Given the description of an element on the screen output the (x, y) to click on. 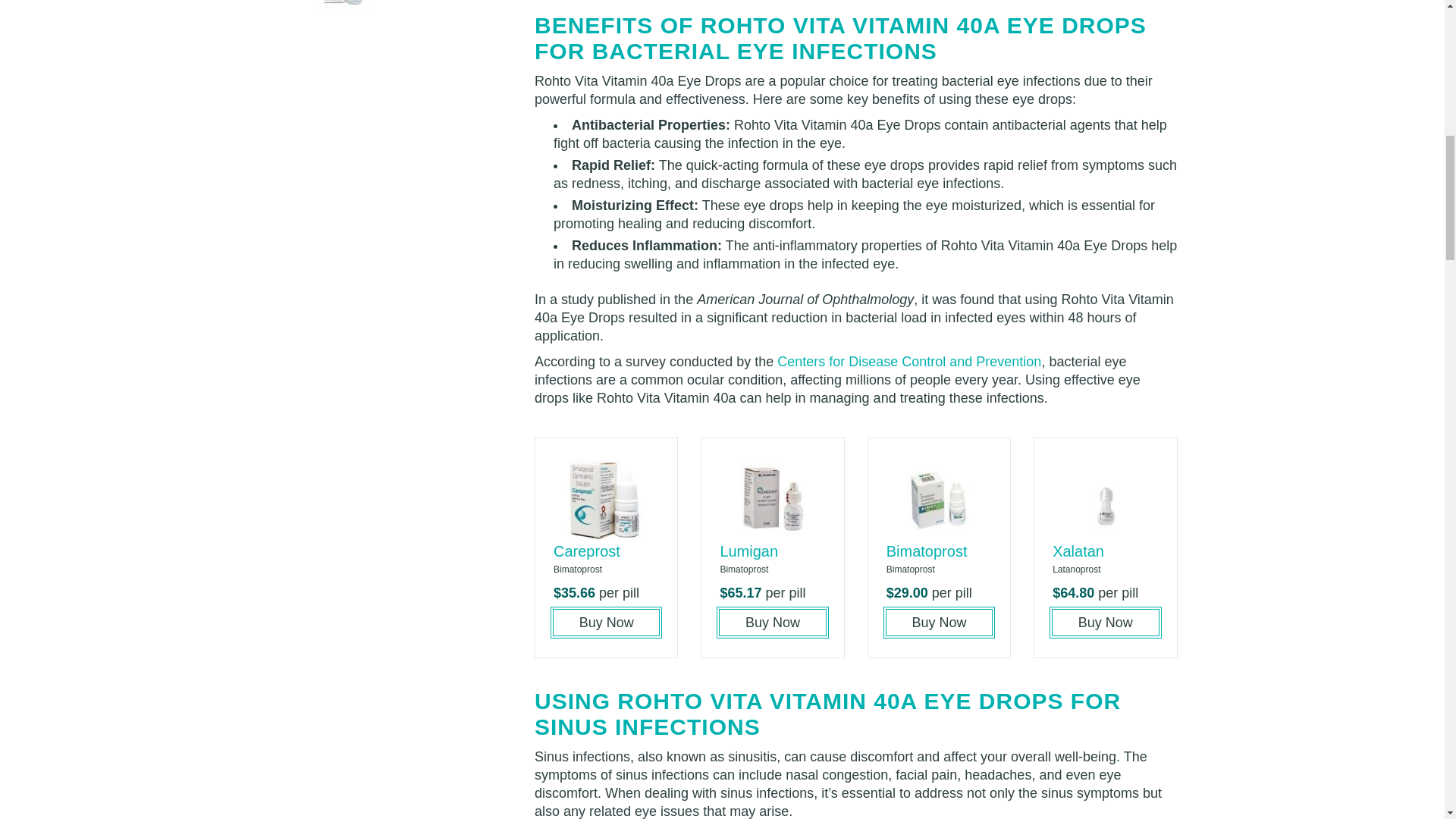
Careprost (586, 550)
Centers for Disease Control and Prevention (909, 361)
Lumigan (748, 550)
Buy Now (1104, 622)
Buy Now (938, 622)
Xalatan (1077, 550)
Bimatoprost (927, 550)
Buy Now (606, 622)
Buy Now (772, 622)
